Given the description of an element on the screen output the (x, y) to click on. 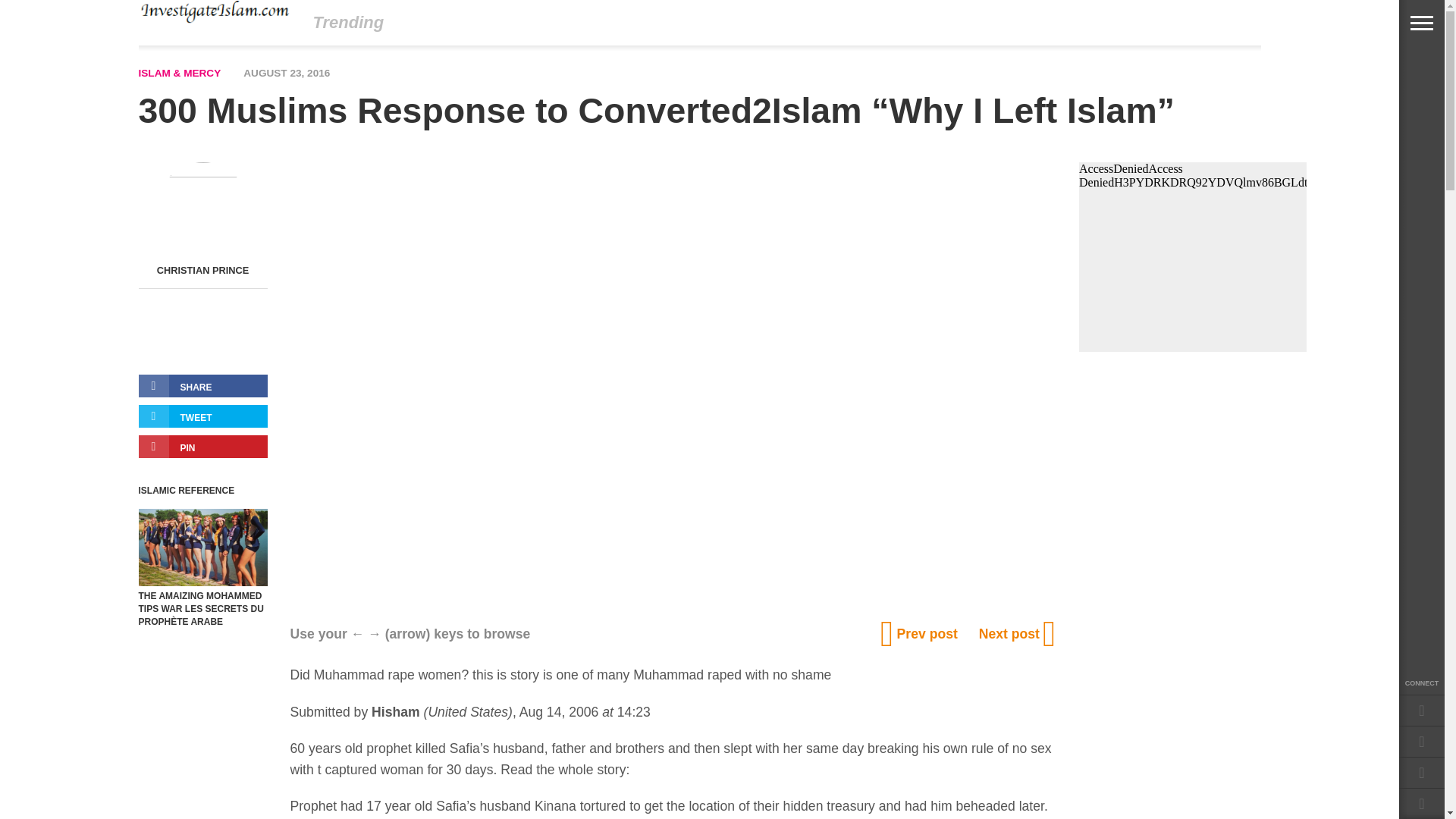
Next post (1016, 633)
Prev post (920, 633)
CHRISTIAN PRINCE (202, 270)
Posts by Christian Prince (202, 270)
